Given the description of an element on the screen output the (x, y) to click on. 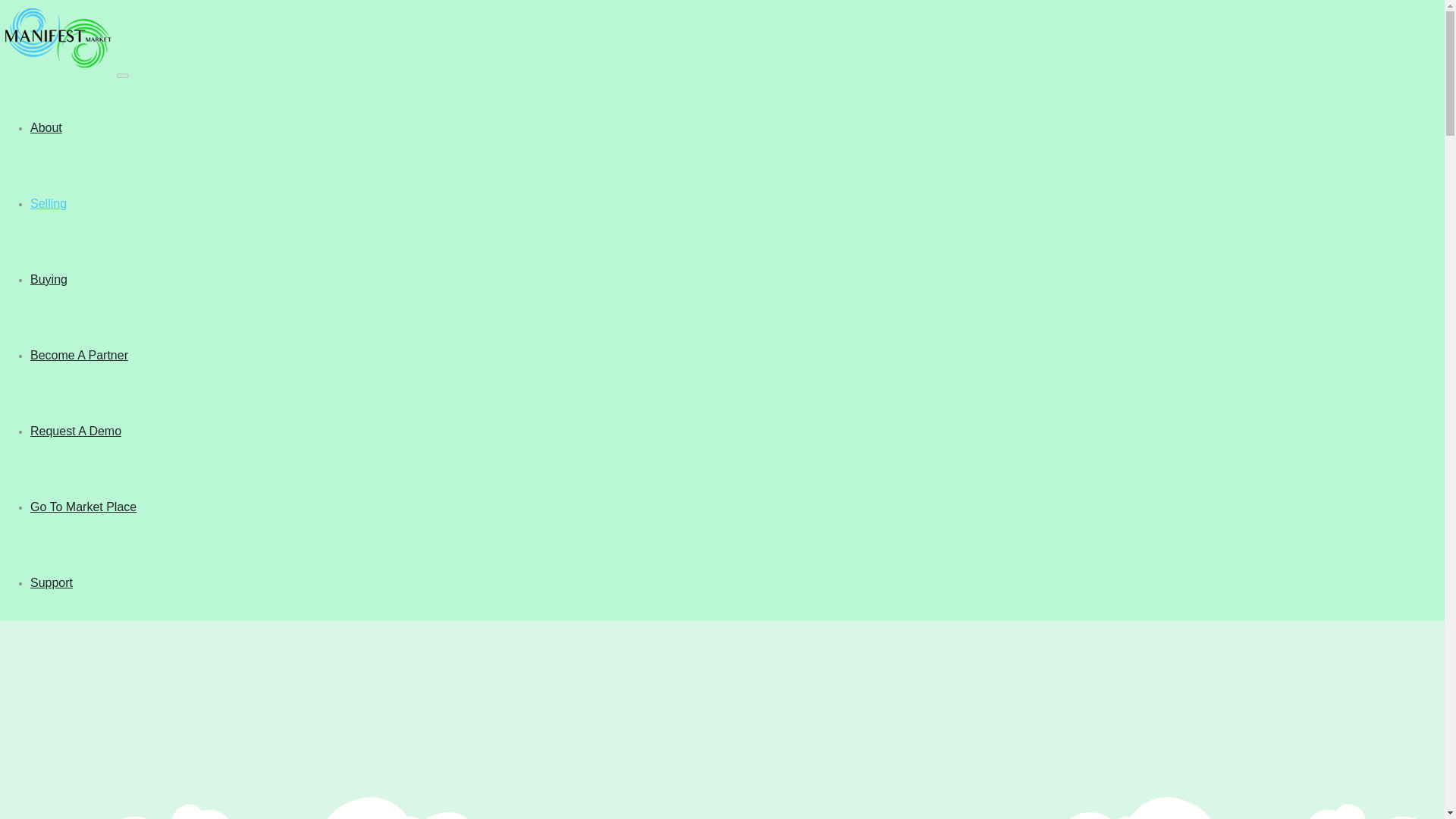
Selling (726, 202)
Support (737, 581)
Buying (726, 278)
Go To Market Place (726, 506)
Request A Demo (726, 430)
Become A Partner (726, 354)
About (726, 127)
